Given the description of an element on the screen output the (x, y) to click on. 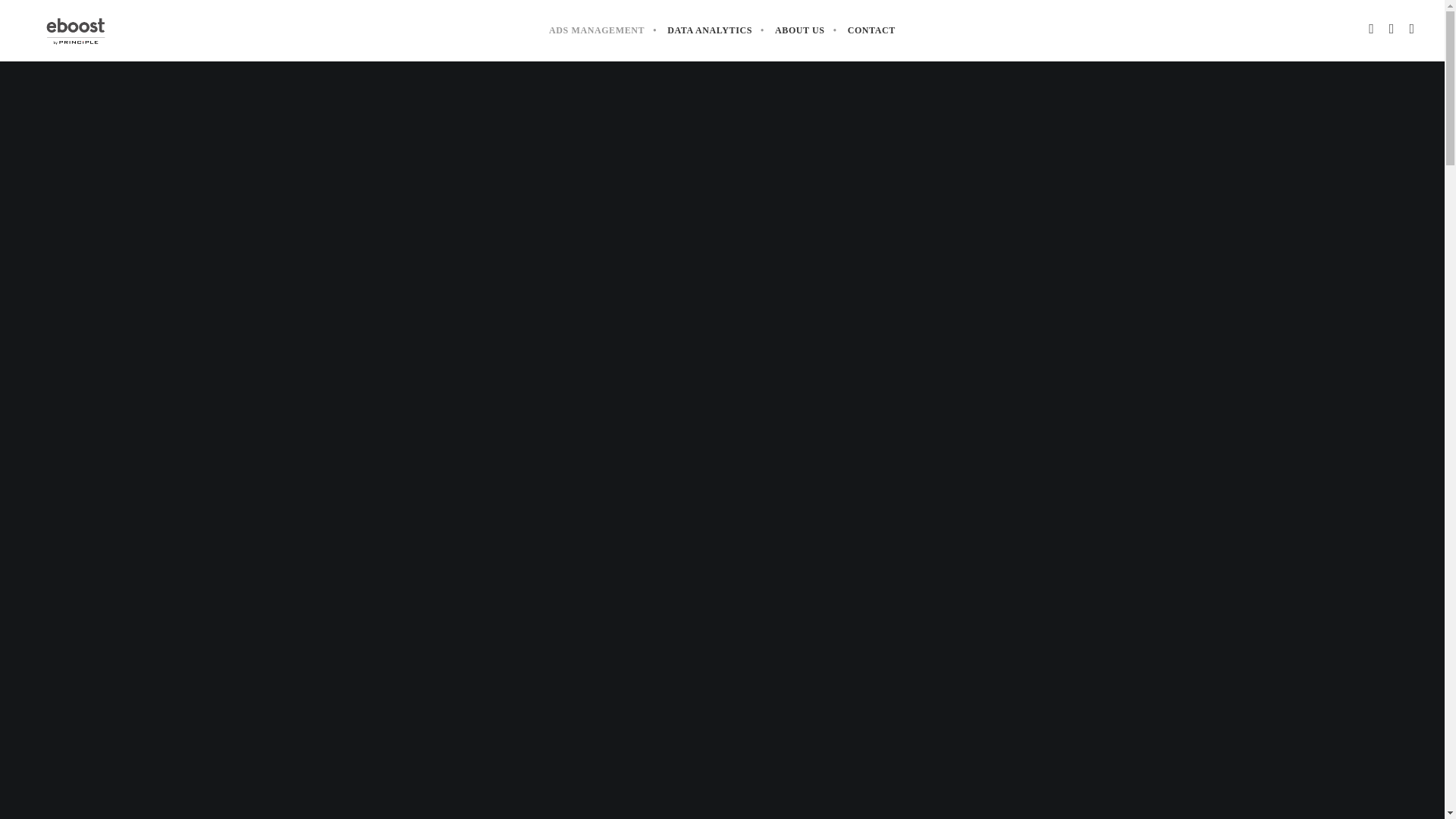
ADS MANAGEMENT (596, 30)
DATA ANALYTICS (709, 30)
ABOUT US (798, 30)
CONTACT (871, 30)
